Given the description of an element on the screen output the (x, y) to click on. 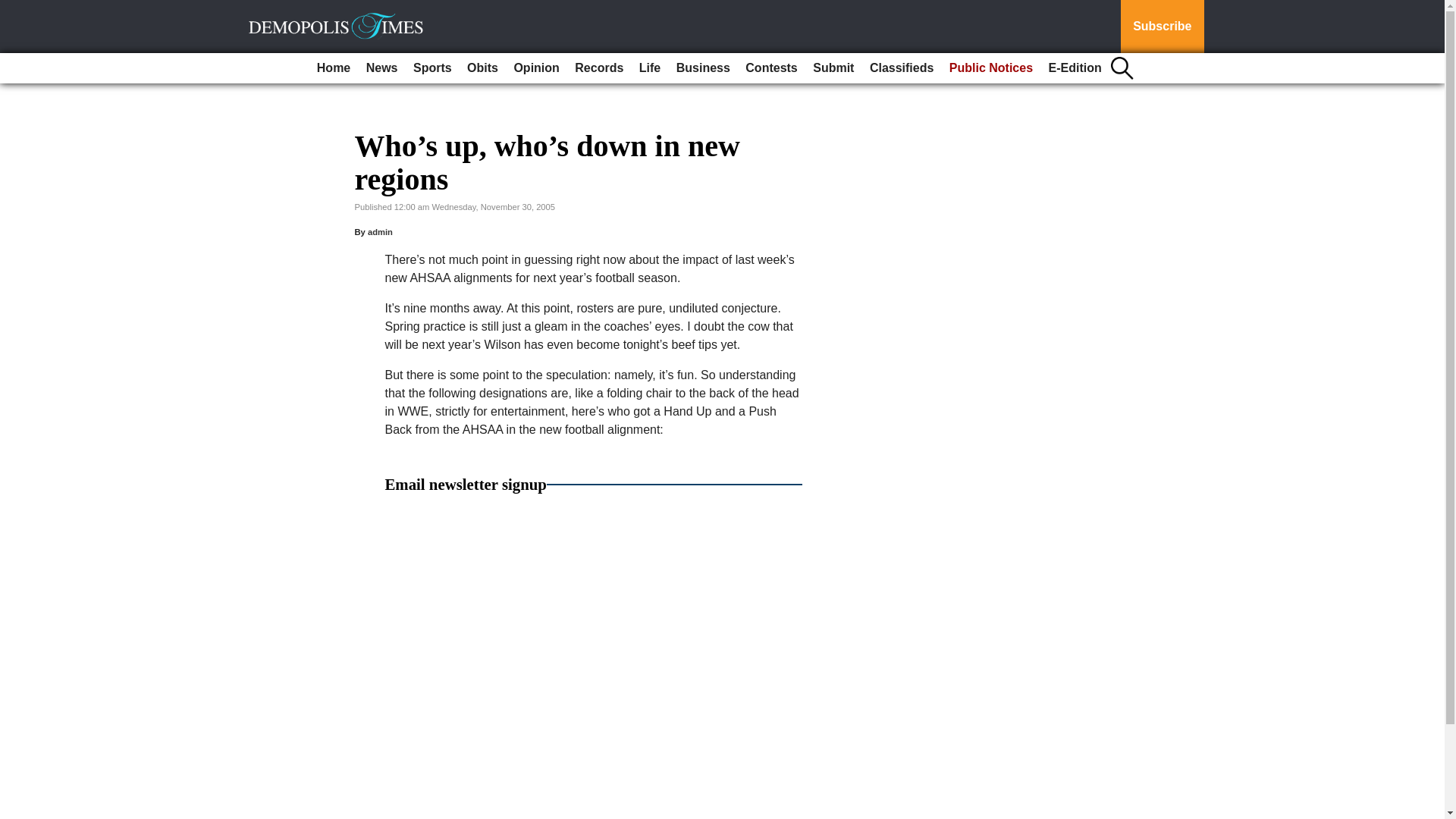
admin (380, 231)
Classifieds (901, 68)
Life (649, 68)
Records (598, 68)
Subscribe (1162, 26)
News (381, 68)
Opinion (535, 68)
Submit (833, 68)
Obits (482, 68)
Home (333, 68)
Go (13, 9)
Public Notices (991, 68)
Sports (432, 68)
E-Edition (1075, 68)
Contests (771, 68)
